Given the description of an element on the screen output the (x, y) to click on. 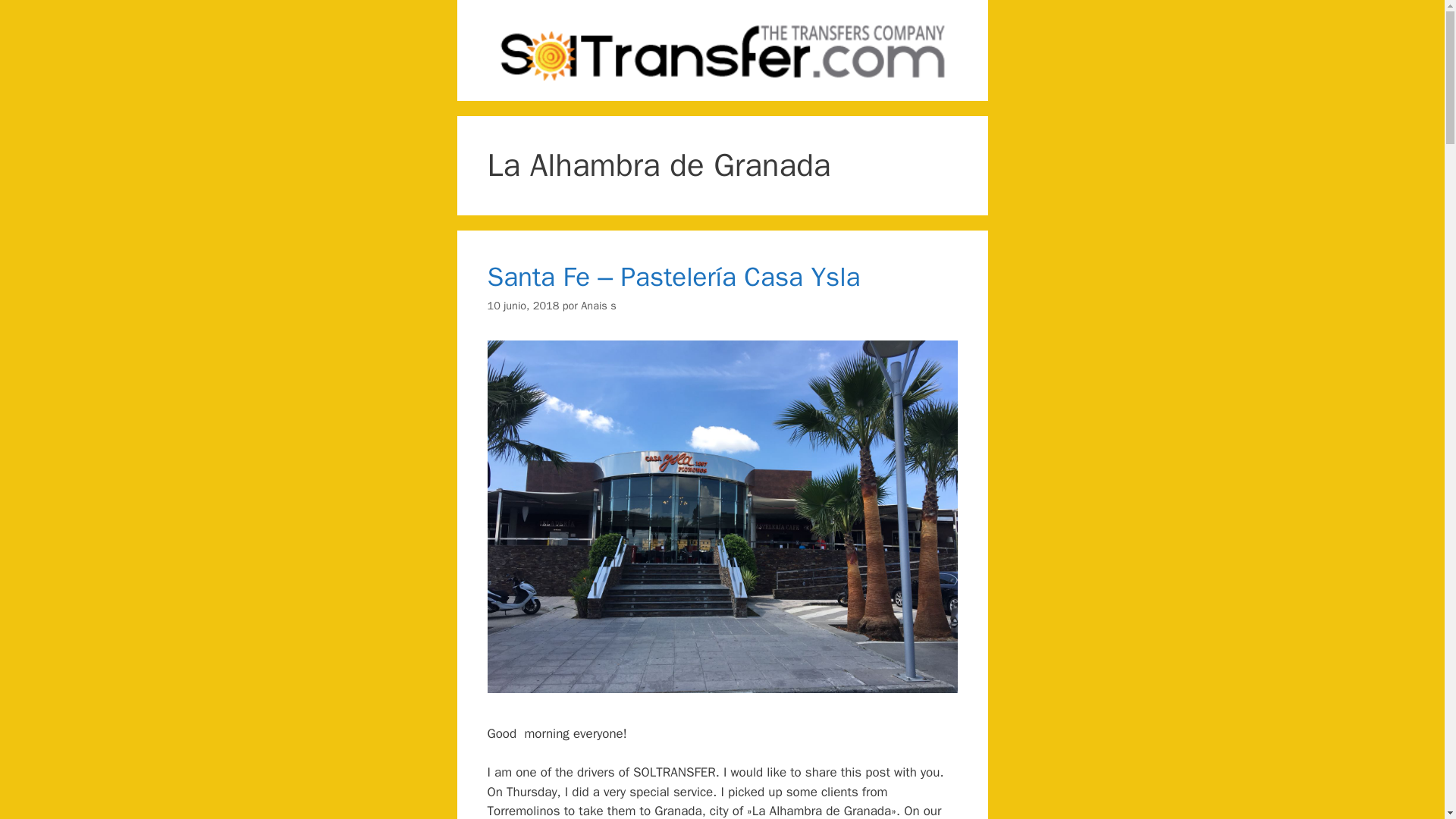
Bemycab (721, 50)
Anais s (597, 305)
Bemycab (721, 49)
Ver todas las entradas de Anais s (597, 305)
